Given the description of an element on the screen output the (x, y) to click on. 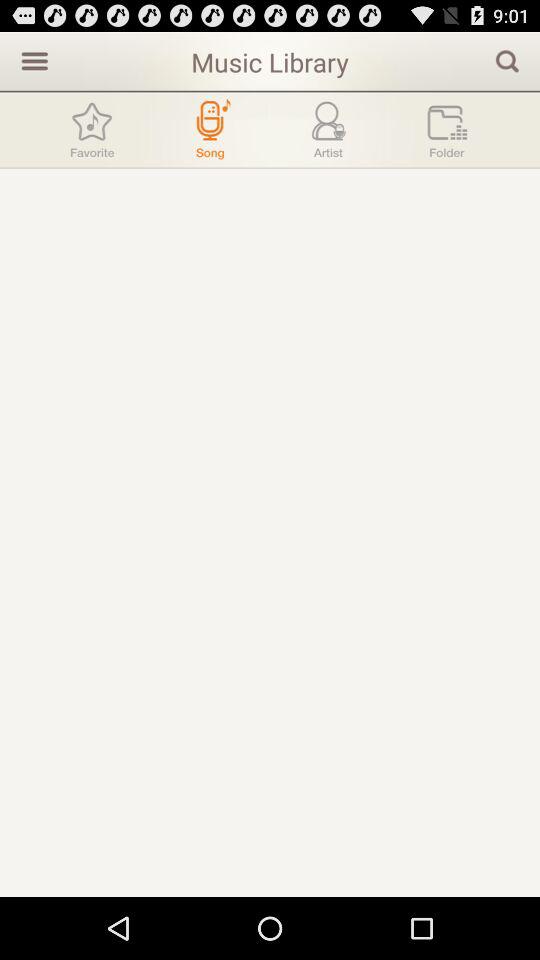
tap the item below music library (328, 129)
